Given the description of an element on the screen output the (x, y) to click on. 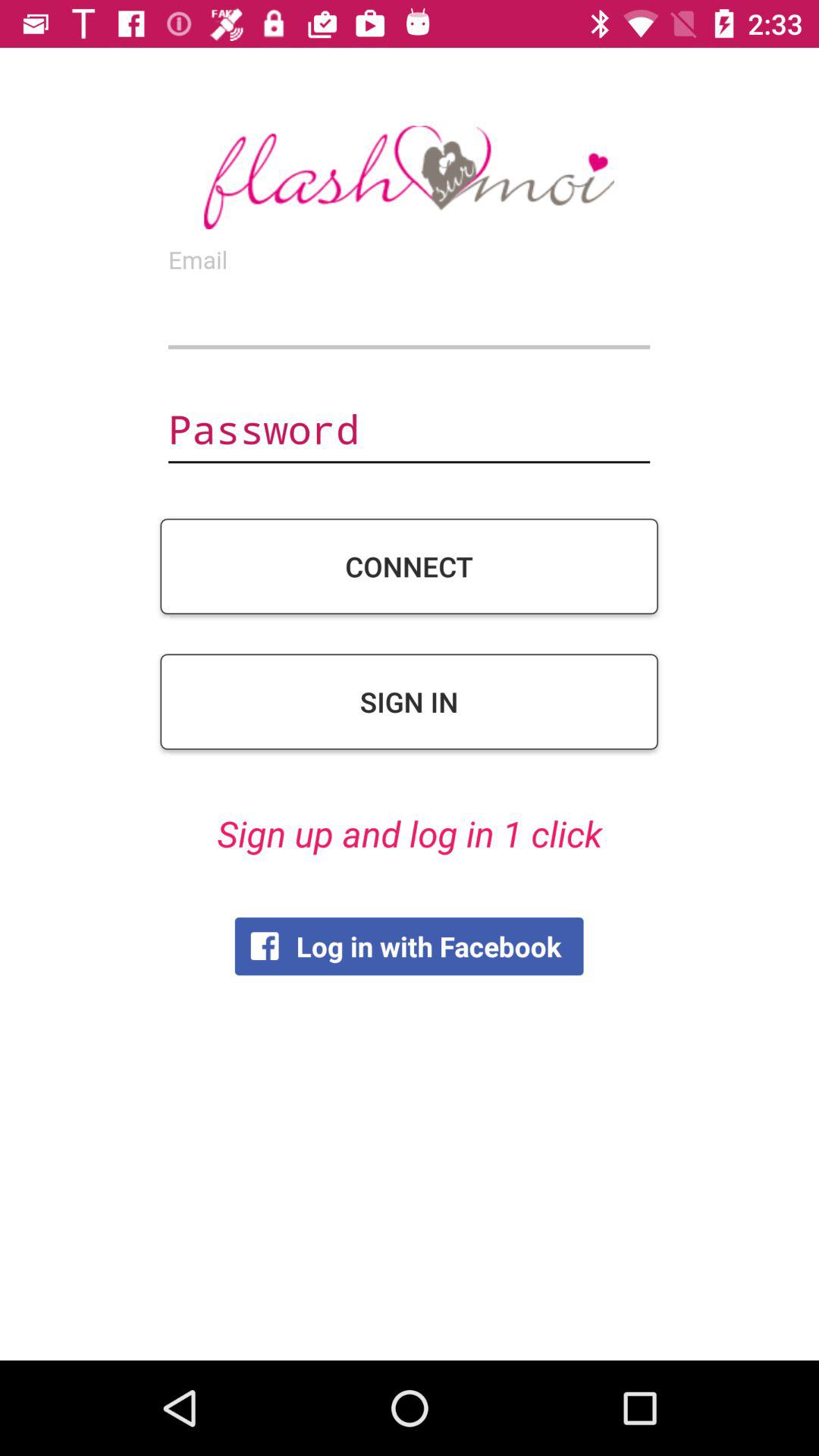
insert password (409, 431)
